Given the description of an element on the screen output the (x, y) to click on. 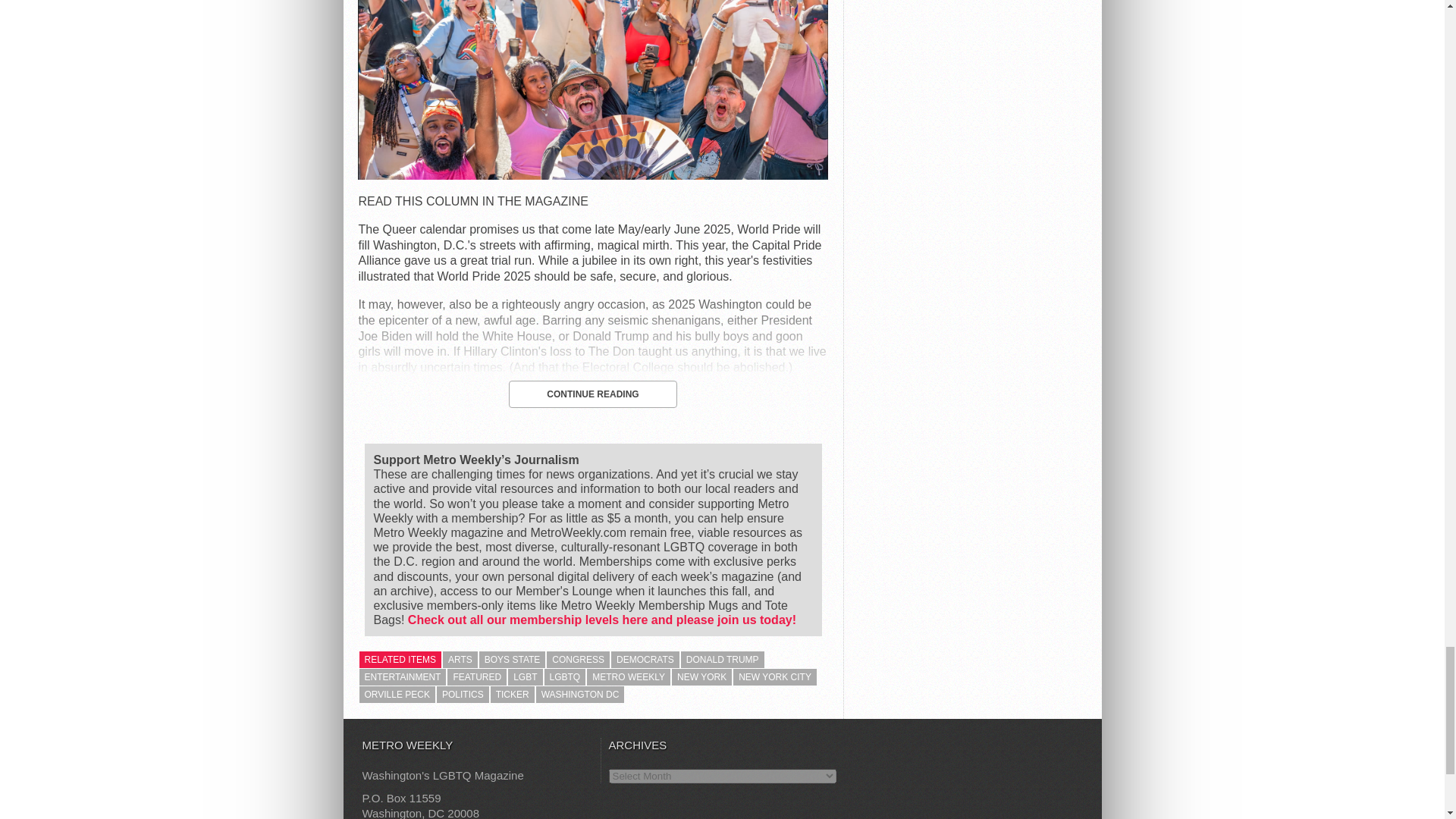
A Trump Win Could Transform World Pride 2025 (592, 174)
